Given the description of an element on the screen output the (x, y) to click on. 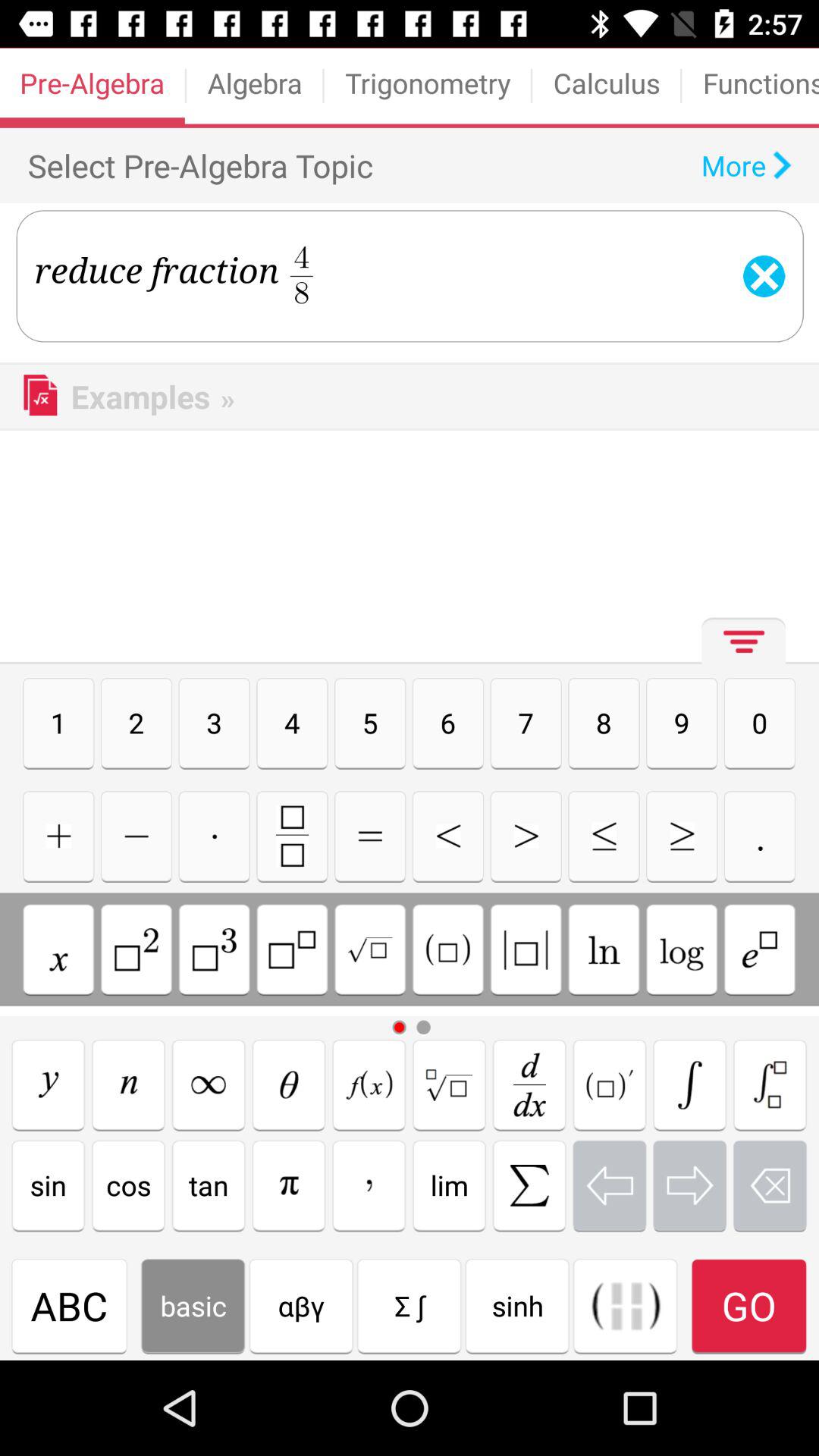
reduce fraction button (681, 835)
